Given the description of an element on the screen output the (x, y) to click on. 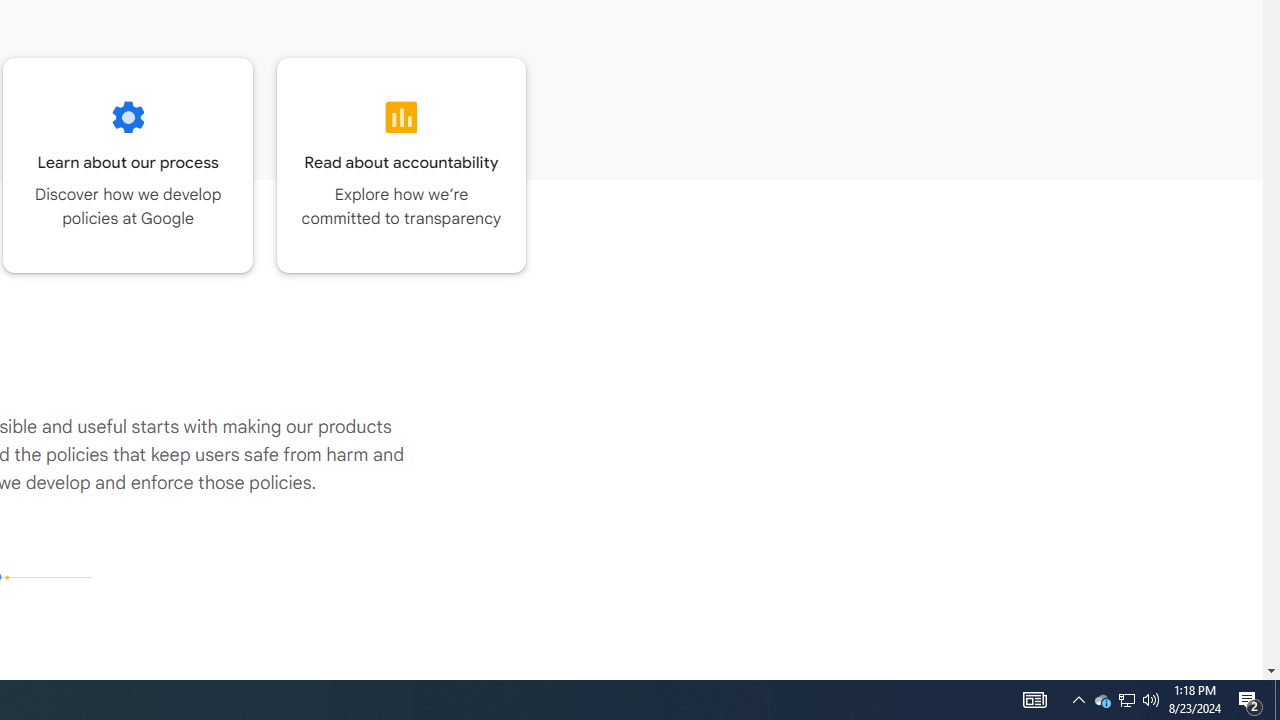
Go to the Our process page (127, 165)
Go to the Accountability page (401, 165)
